Given the description of an element on the screen output the (x, y) to click on. 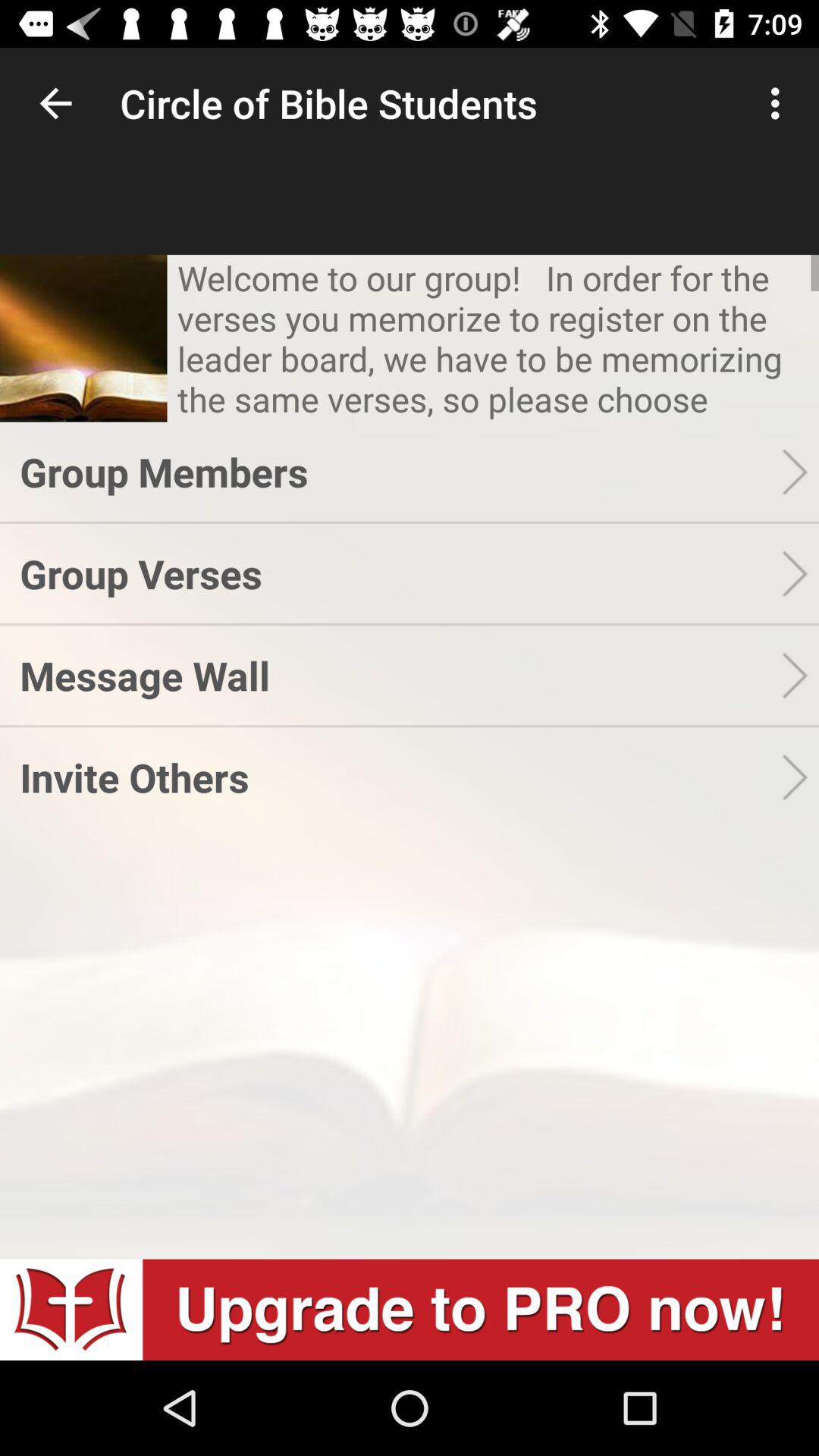
turn on icon next to circle of bible (779, 103)
